Given the description of an element on the screen output the (x, y) to click on. 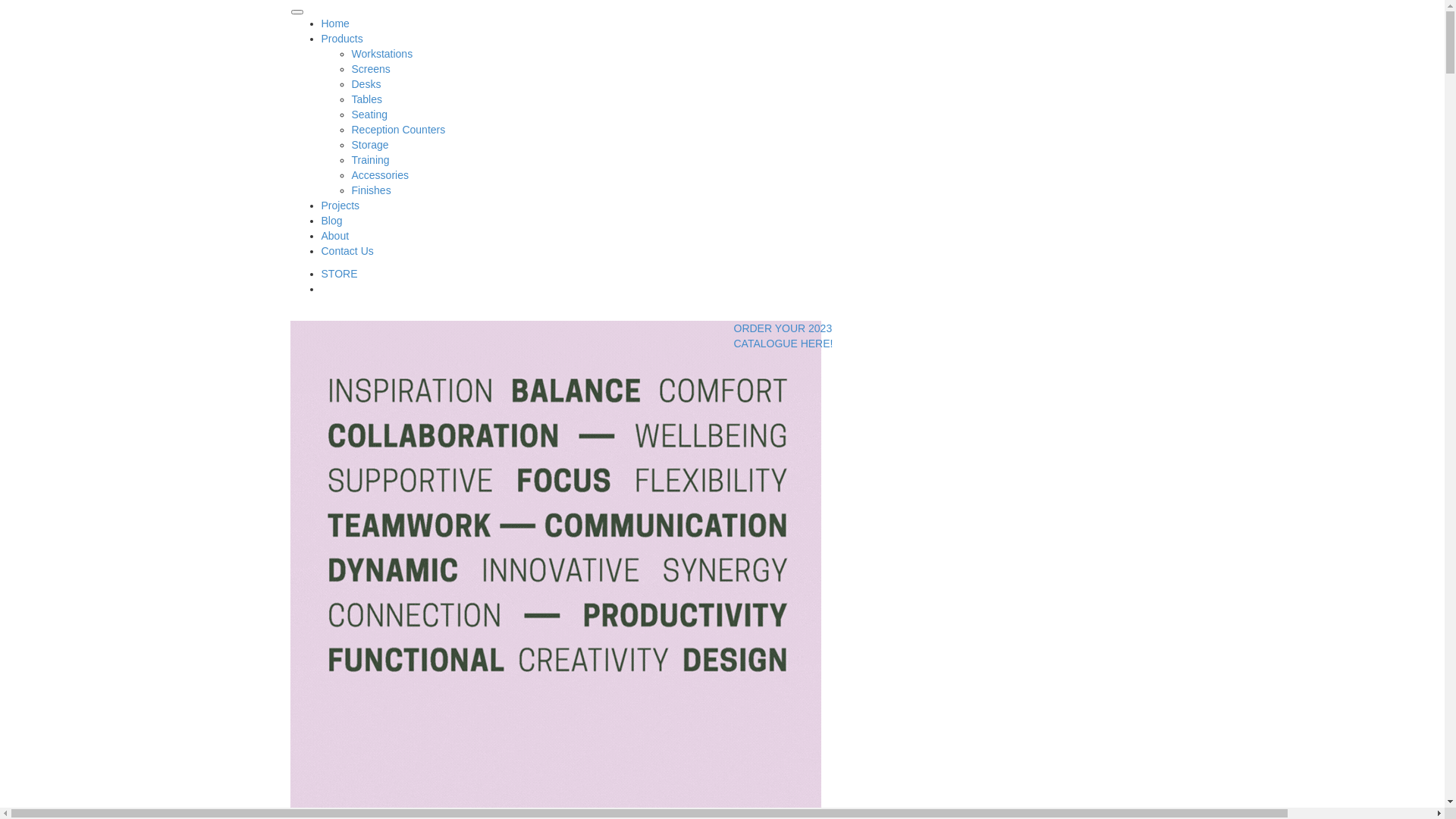
Storage Element type: text (370, 144)
Workstations Element type: text (382, 53)
Reception Counters Element type: text (398, 129)
Seating Element type: text (369, 114)
STORE Element type: text (339, 273)
Blog Element type: text (331, 220)
Projects Element type: text (340, 205)
Home Element type: text (335, 23)
Training Element type: text (370, 159)
About Element type: text (335, 235)
Contact Us Element type: text (347, 250)
Accessories Element type: text (379, 175)
Screens Element type: text (370, 68)
Toggle navigation Element type: text (297, 11)
Products Element type: text (342, 38)
Tables Element type: text (366, 99)
Desks Element type: text (366, 84)
ORDER YOUR 2023
CATALOGUE HERE! Element type: text (783, 335)
Finishes Element type: text (371, 190)
